Given the description of an element on the screen output the (x, y) to click on. 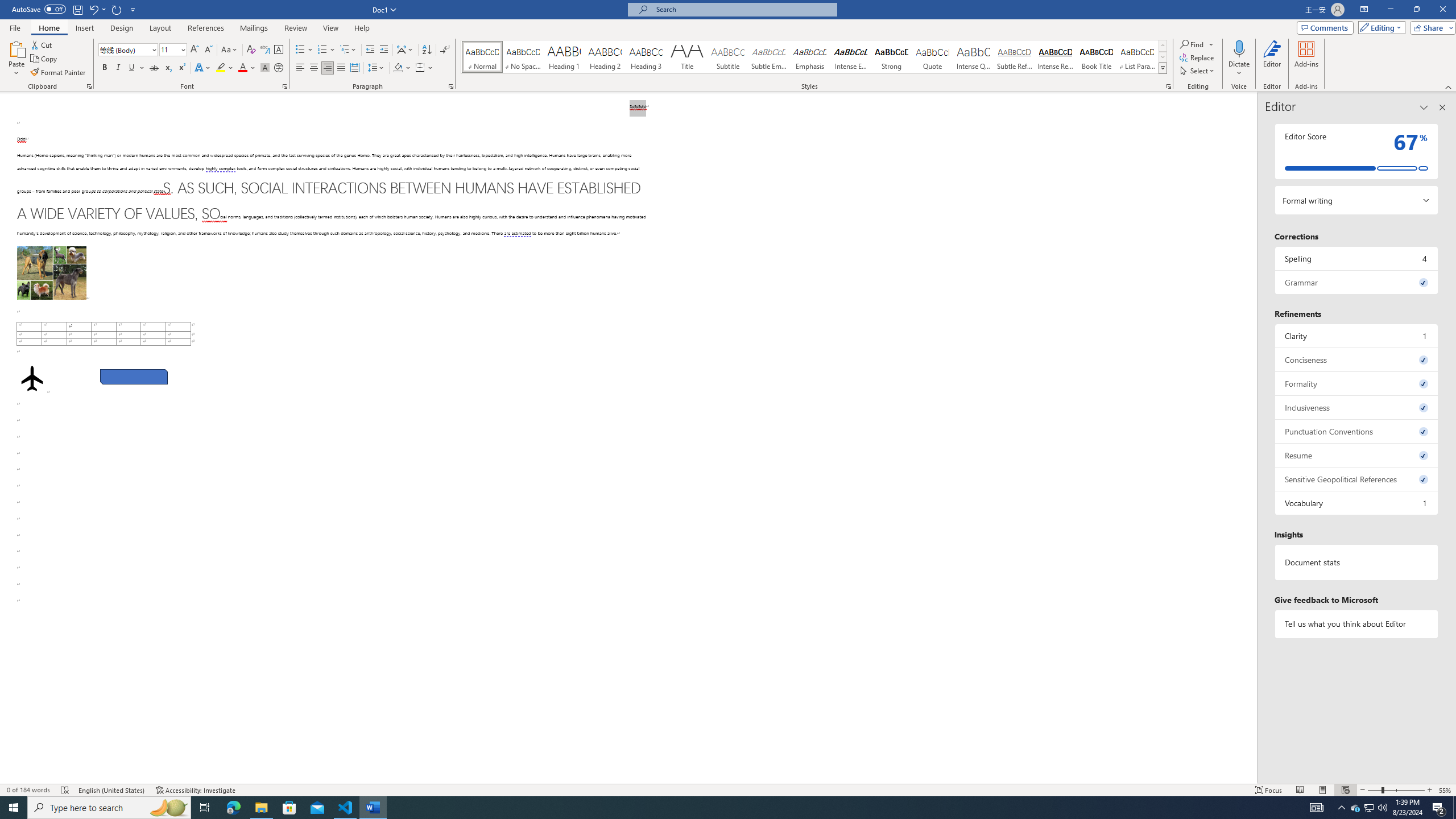
Copy (45, 58)
Emphasis (809, 56)
Document statistics (1356, 561)
Show/Hide Editing Marks (444, 49)
Morphological variation in six dogs (51, 272)
Clarity, 1 issue. Press space or enter to review items. (1356, 335)
Grow Font (193, 49)
Cut (42, 44)
Format Painter (58, 72)
Italic (118, 67)
